Given the description of an element on the screen output the (x, y) to click on. 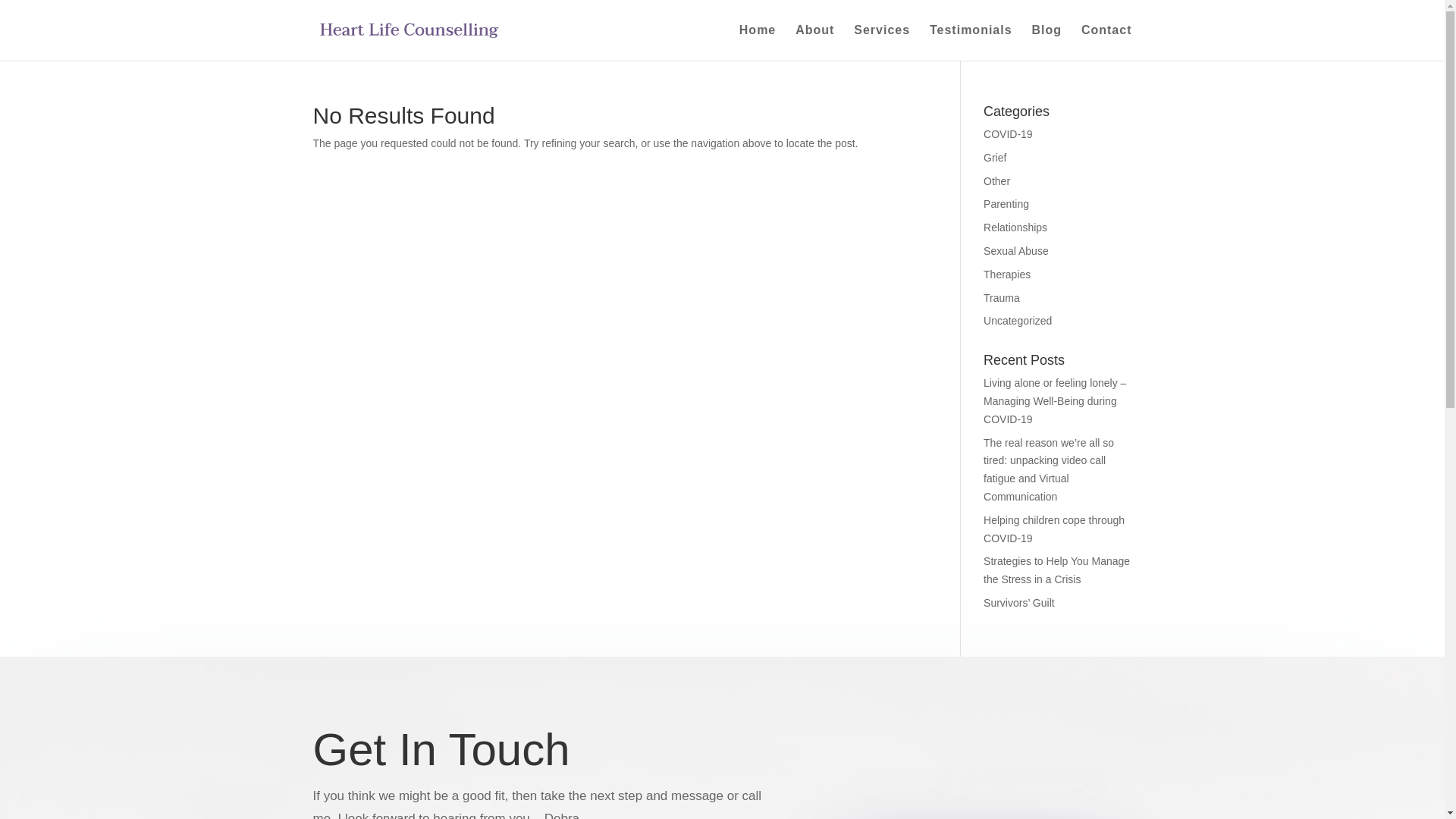
Other Element type: text (996, 181)
Services Element type: text (881, 42)
Relationships Element type: text (1015, 227)
Home Element type: text (757, 42)
Testimonials Element type: text (970, 42)
Uncategorized Element type: text (1017, 320)
Parenting Element type: text (1006, 203)
Therapies Element type: text (1006, 274)
Contact Element type: text (1106, 42)
Grief Element type: text (994, 157)
Trauma Element type: text (1001, 297)
Blog Element type: text (1046, 42)
COVID-19 Element type: text (1007, 134)
About Element type: text (814, 42)
Sexual Abuse Element type: text (1015, 250)
Strategies to Help You Manage the Stress in a Crisis Element type: text (1056, 570)
Helping children cope through COVID-19 Element type: text (1053, 529)
